Given the description of an element on the screen output the (x, y) to click on. 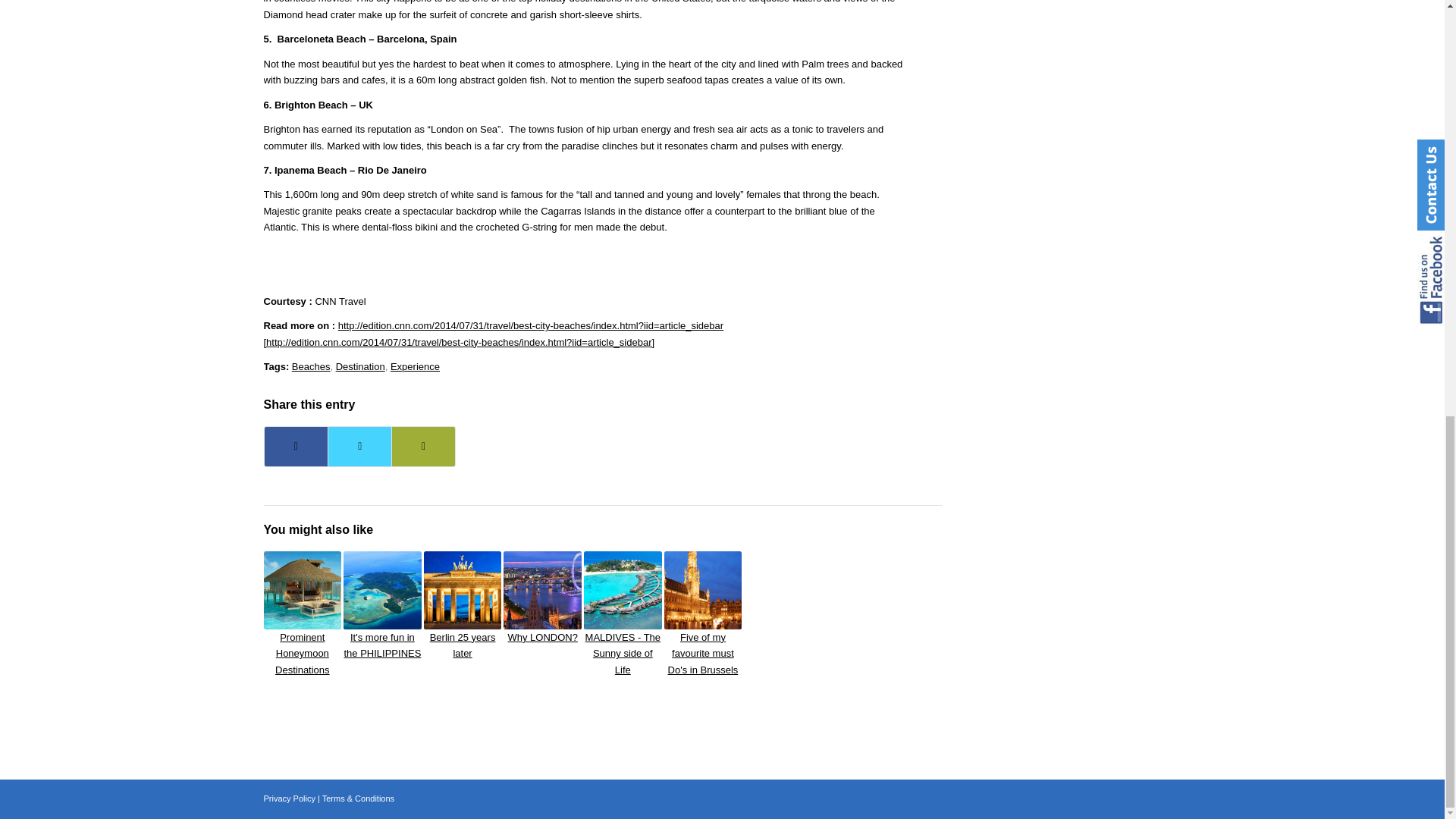
Destination (360, 366)
Experience (414, 366)
Beaches (311, 366)
